Given the description of an element on the screen output the (x, y) to click on. 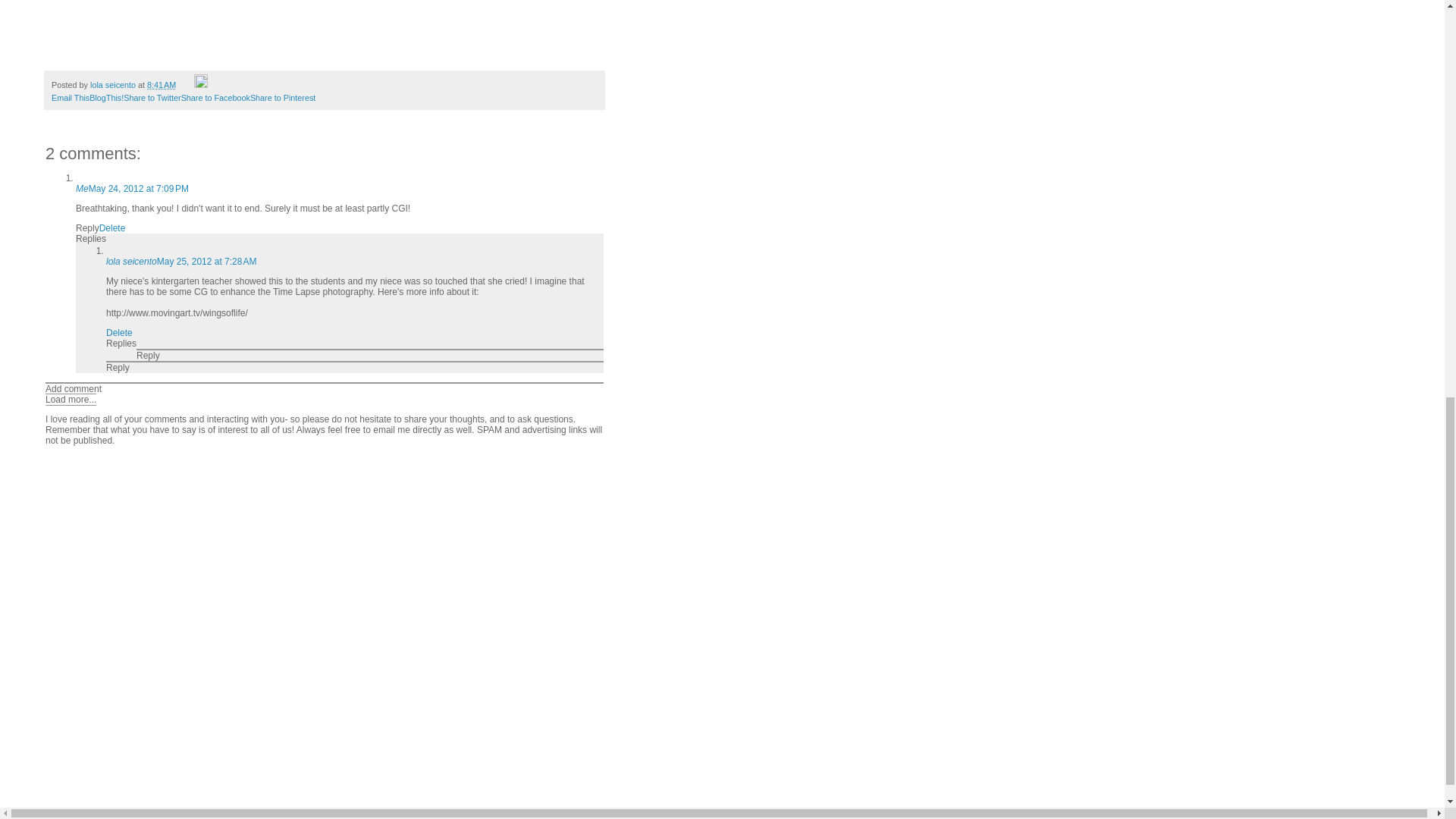
Reply (87, 227)
Replies (90, 238)
Share to Facebook (215, 97)
Add comment (73, 388)
Reply (117, 367)
Reply (148, 355)
Share to Twitter (151, 97)
BlogThis! (105, 97)
Share to Facebook (215, 97)
author profile (114, 84)
Email Post (185, 84)
Edit Post (200, 84)
BlogThis! (105, 97)
Me (81, 188)
